Given the description of an element on the screen output the (x, y) to click on. 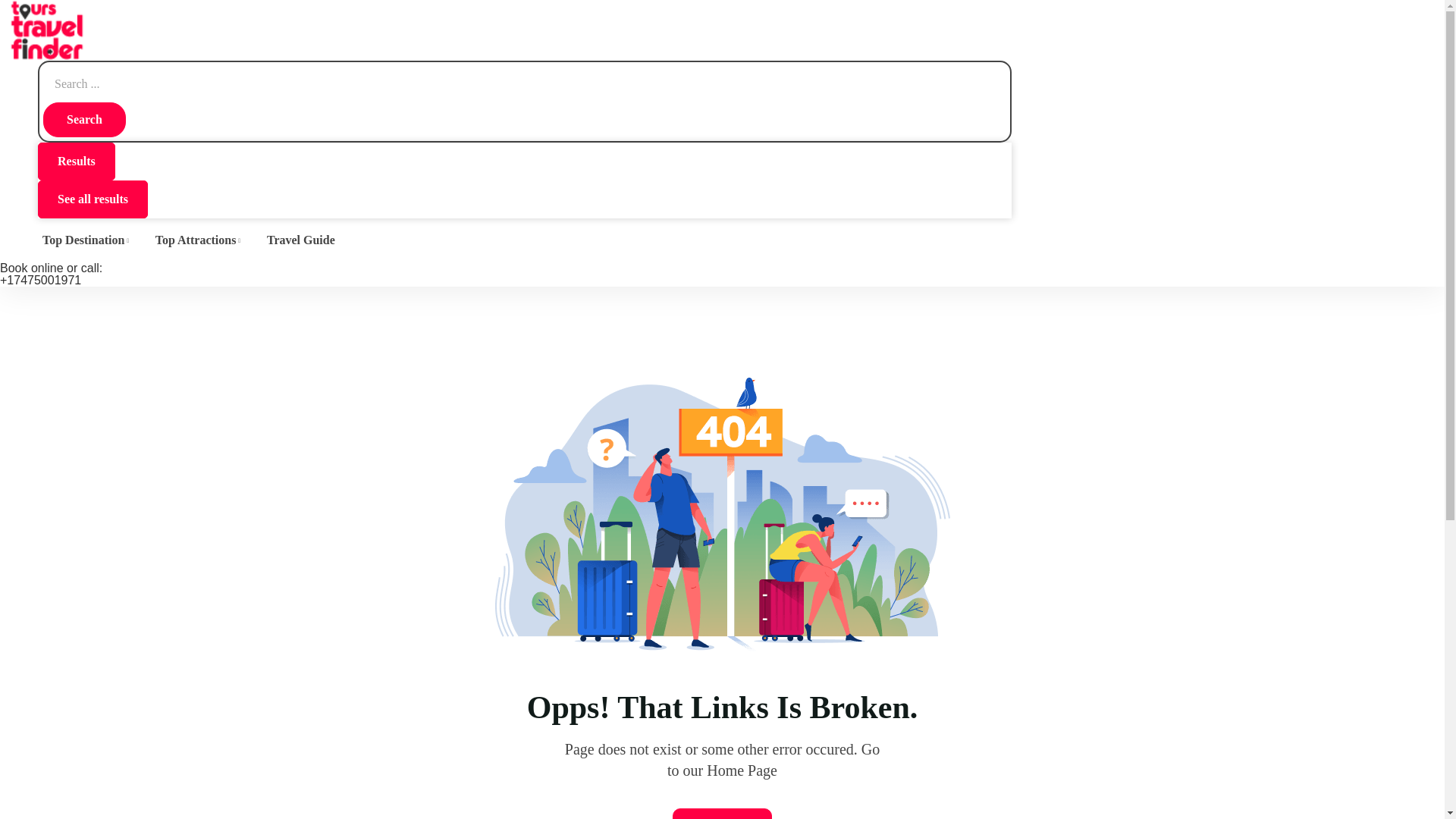
Go Home (721, 813)
Search (84, 119)
Top Attractions (198, 240)
Top Destination (86, 240)
See all results (92, 199)
Top Attractions (198, 240)
Travel Guide (300, 240)
Top Destination (86, 240)
Results (76, 161)
